Given the description of an element on the screen output the (x, y) to click on. 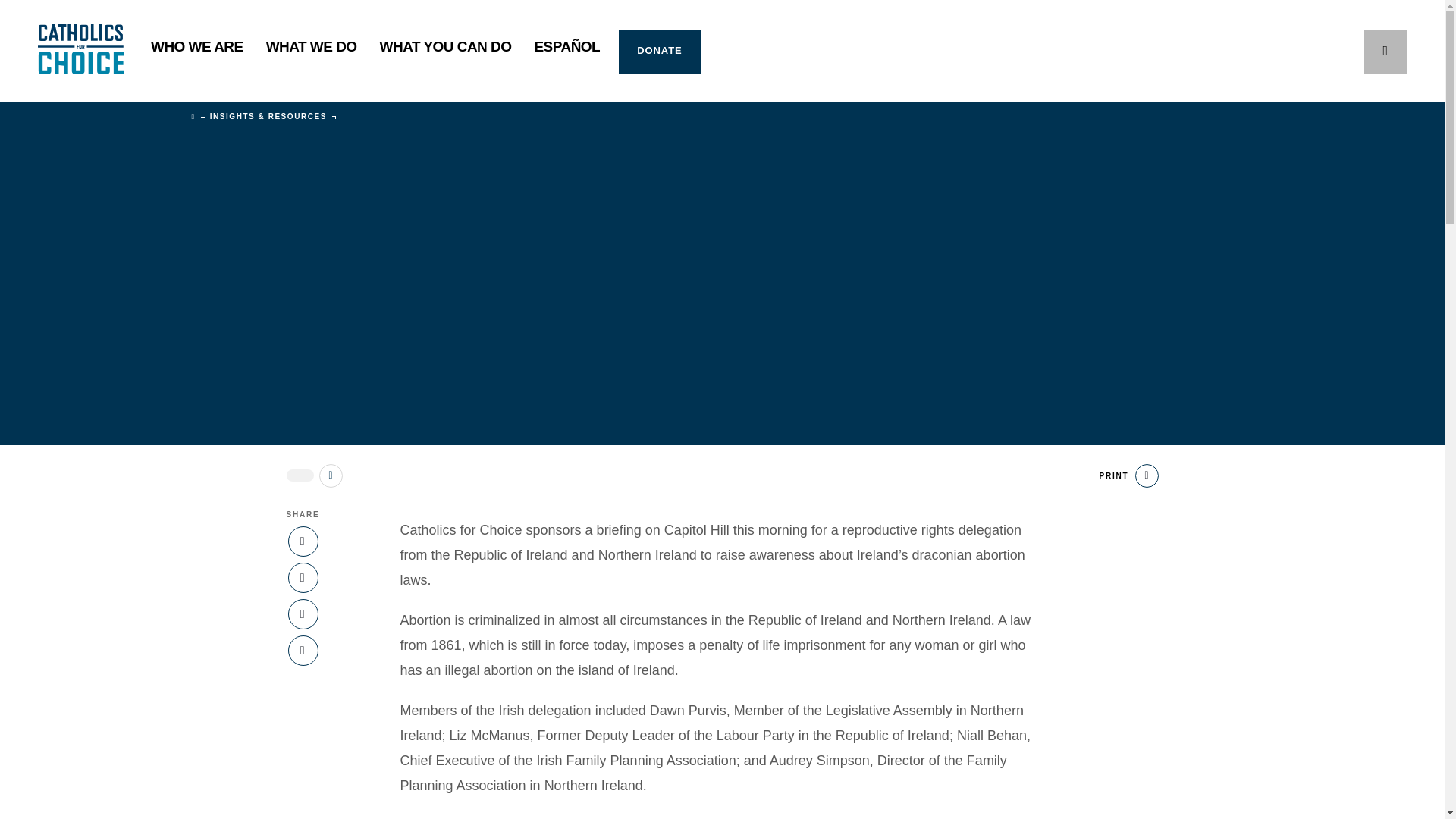
WHO WE ARE (197, 51)
WHAT WE DO (311, 51)
Jump to all Issues (330, 475)
